Given the description of an element on the screen output the (x, y) to click on. 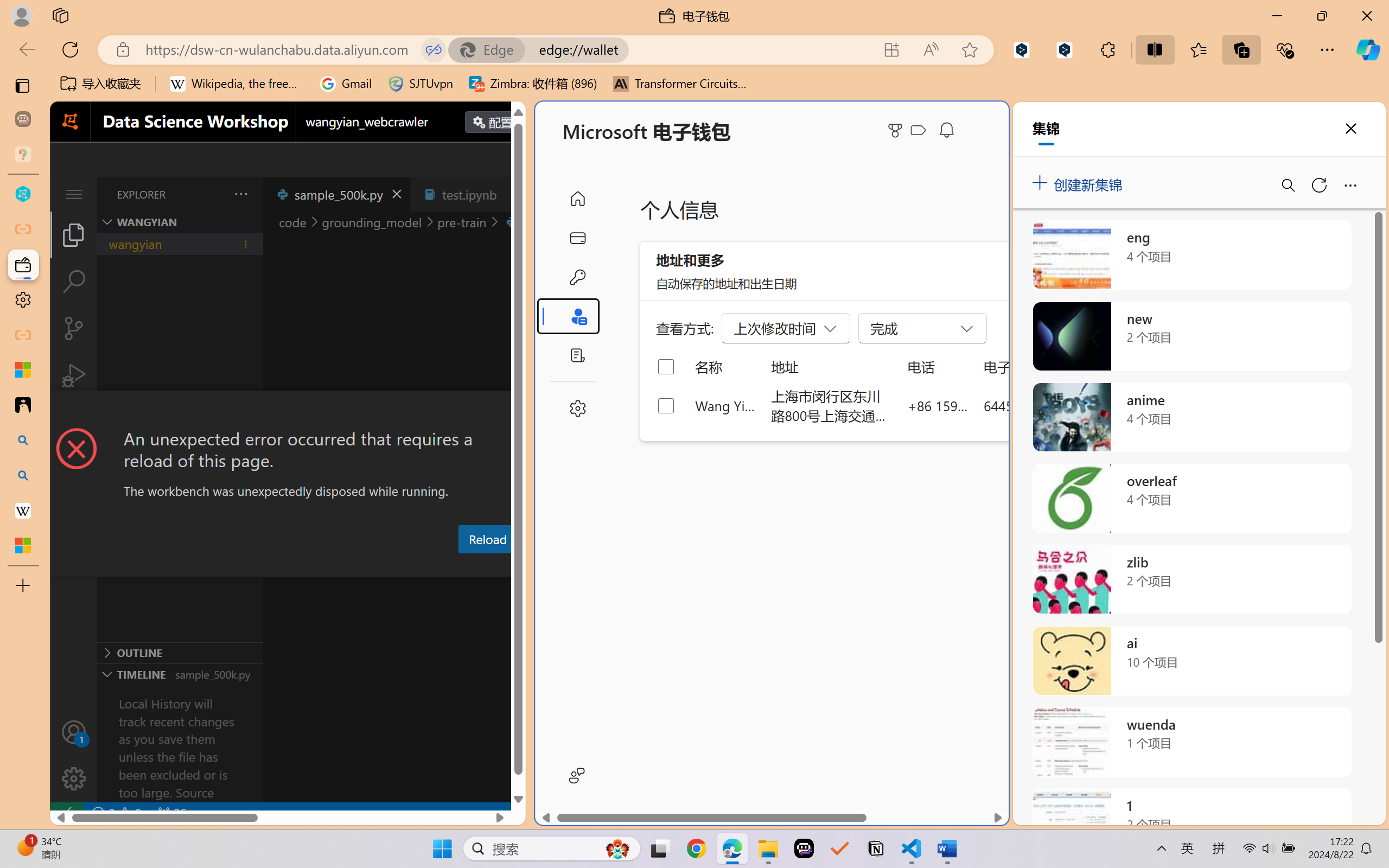
Tab actions (512, 194)
Manage (73, 778)
Class: ___1lmltc5 f1agt3bx f12qytpq (917, 130)
Reload (486, 538)
Close (Ctrl+F4) (512, 194)
sample_500k.py (336, 194)
Explorer Section: wangyian (179, 221)
Search (Ctrl+Shift+F) (73, 281)
